Given the description of an element on the screen output the (x, y) to click on. 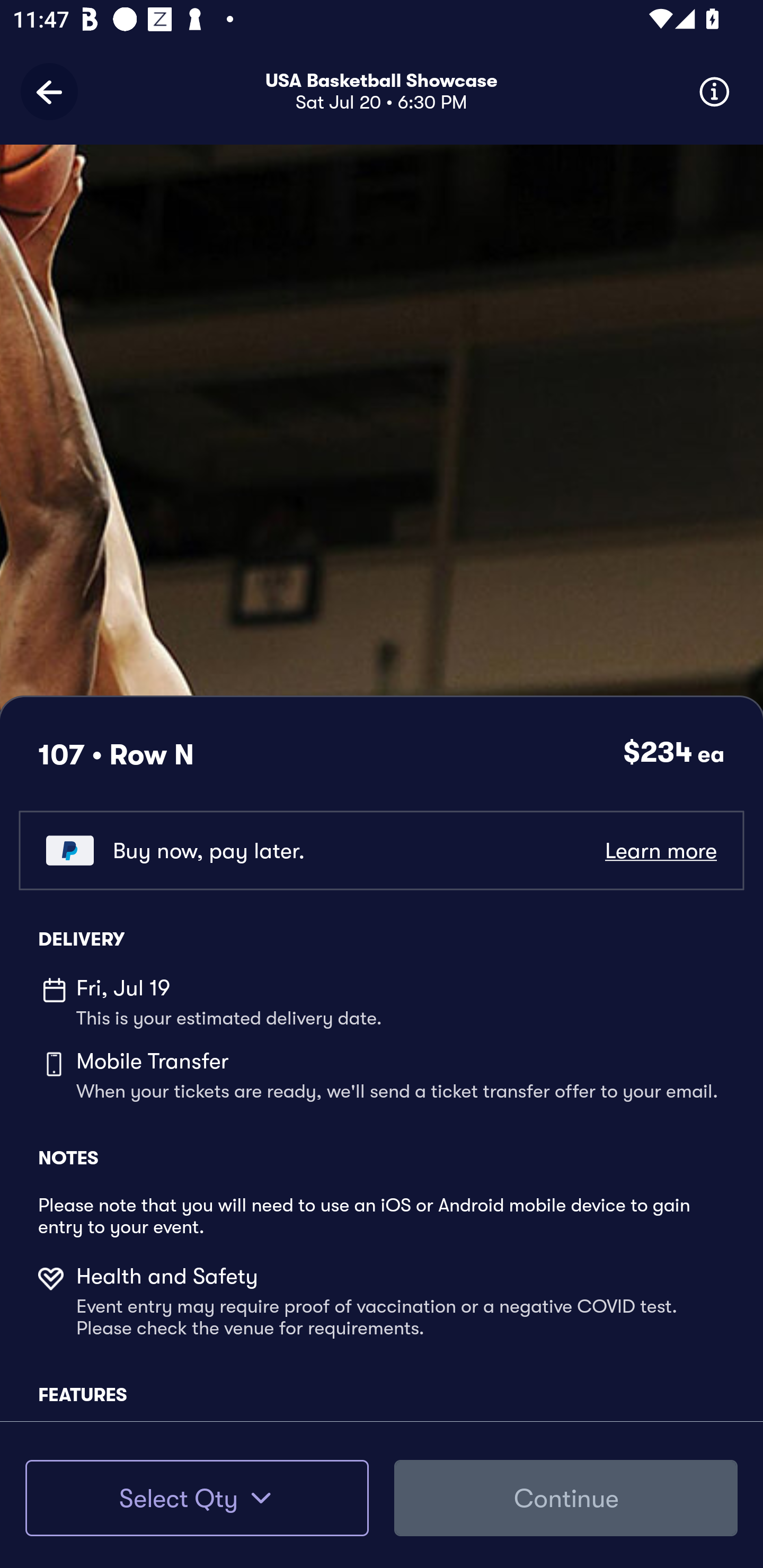
Learn more (660, 850)
Select Qty (196, 1497)
Continue (565, 1497)
